Given the description of an element on the screen output the (x, y) to click on. 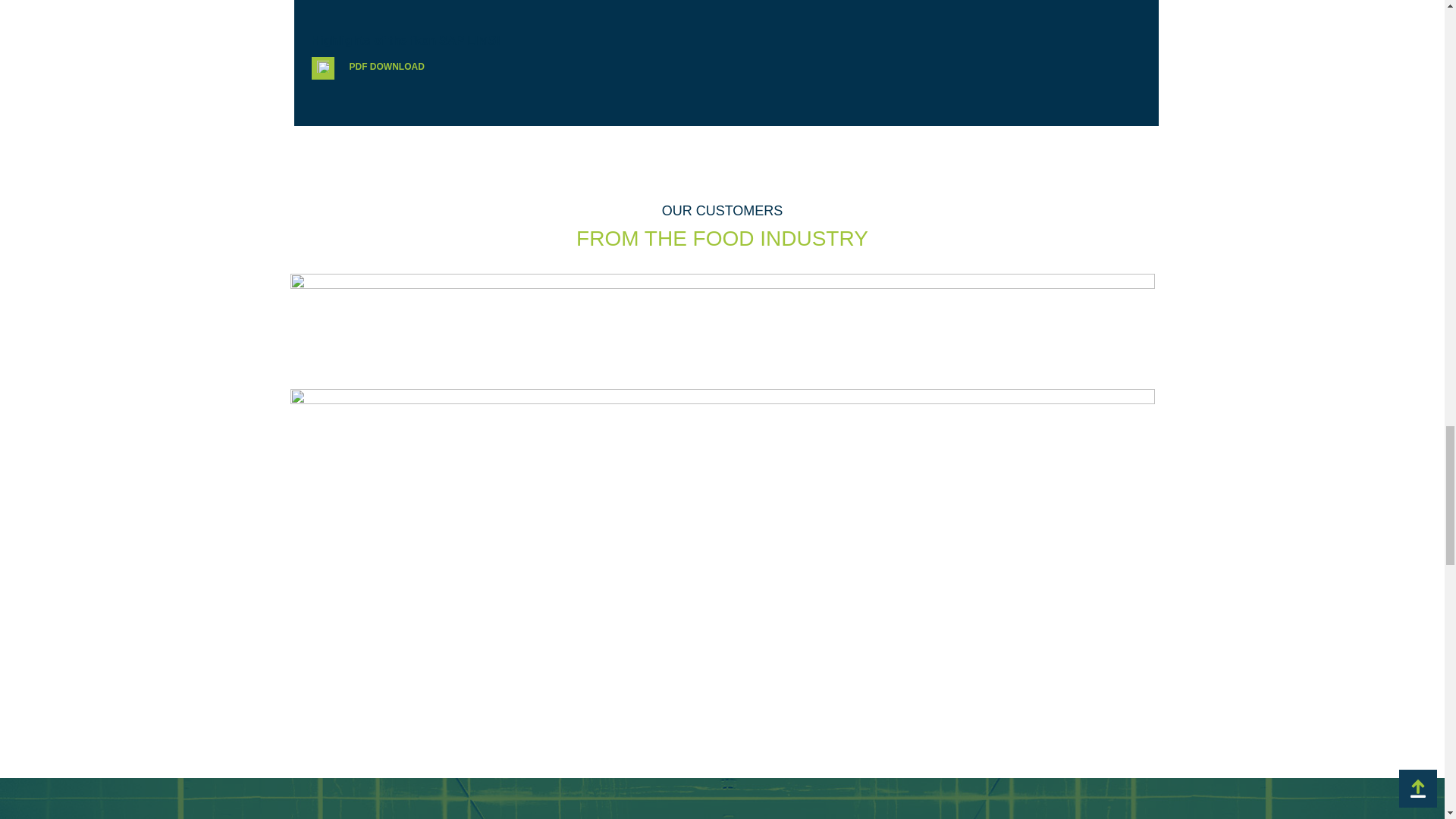
PDF DOWNLOAD (371, 66)
